Given the description of an element on the screen output the (x, y) to click on. 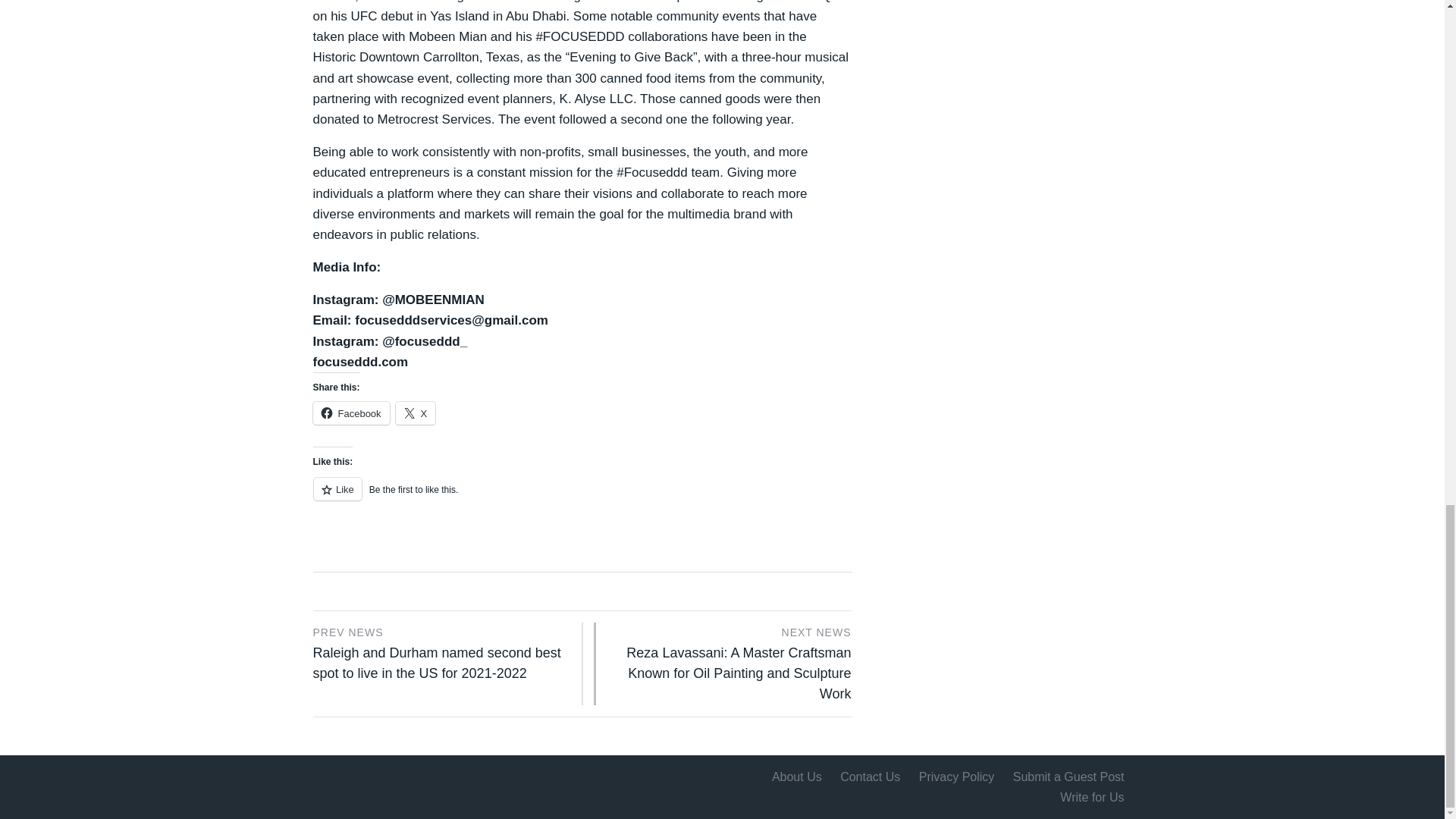
X (415, 413)
Like or Reblog (581, 497)
Click to share on X (415, 413)
Click to share on Facebook (350, 413)
Facebook (350, 413)
